Given the description of an element on the screen output the (x, y) to click on. 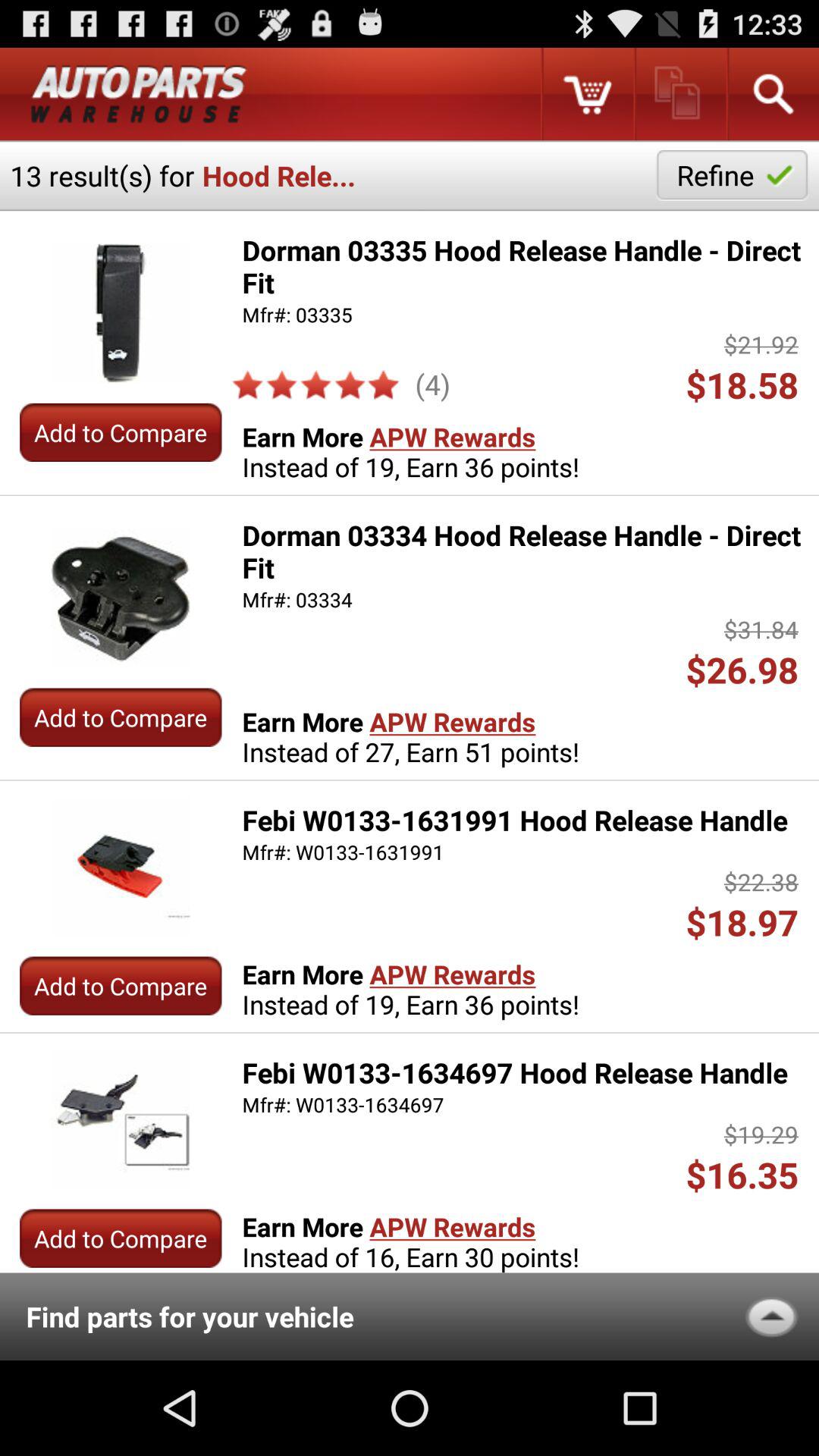
search the website (772, 93)
